Given the description of an element on the screen output the (x, y) to click on. 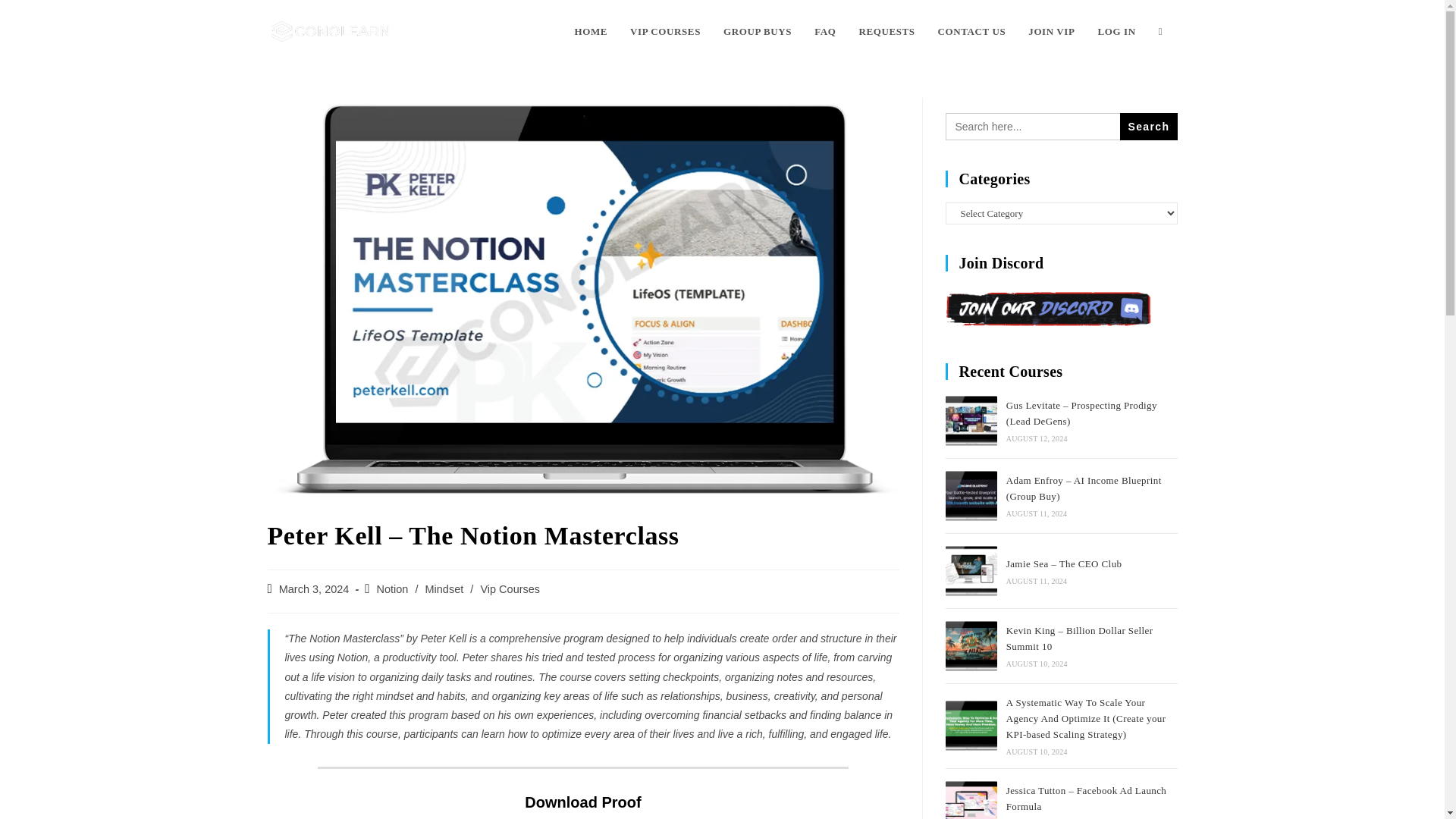
REQUESTS (886, 31)
Notion (391, 589)
VIP COURSES (664, 31)
GROUP BUYS (757, 31)
JOIN VIP (1051, 31)
Search (1147, 126)
Search (1147, 126)
HOME (590, 31)
Mindset (444, 589)
LOG IN (1116, 31)
